Given the description of an element on the screen output the (x, y) to click on. 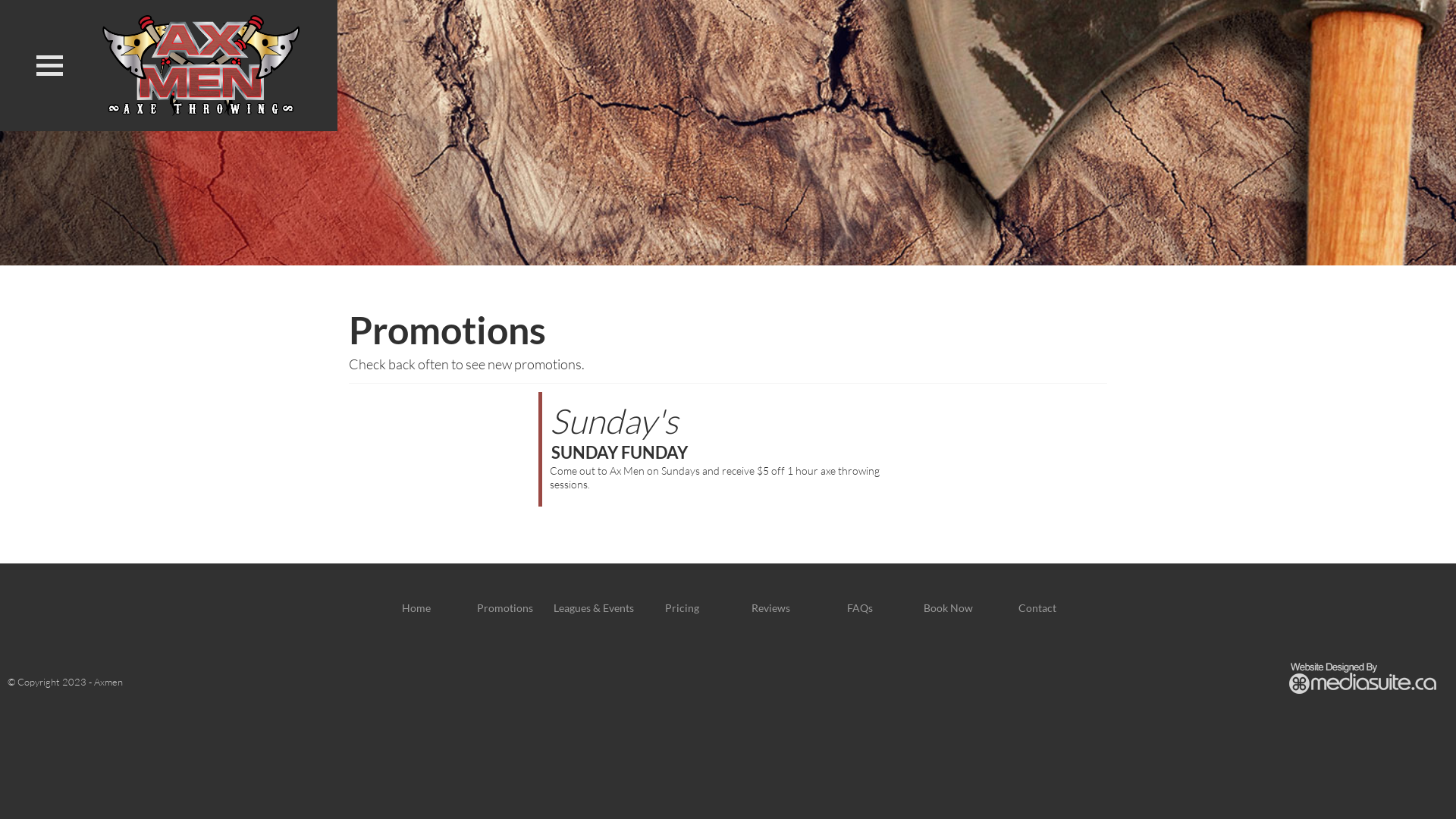
Book Now Element type: text (947, 607)
Pricing Element type: text (682, 607)
FAQs Element type: text (859, 607)
Contact Element type: text (1036, 607)
Reviews Element type: text (770, 607)
Home Element type: text (415, 607)
Promotions Element type: text (504, 607)
SUNDAY FUNDAY Element type: text (619, 452)
Leagues & Events Element type: text (593, 607)
